Given the description of an element on the screen output the (x, y) to click on. 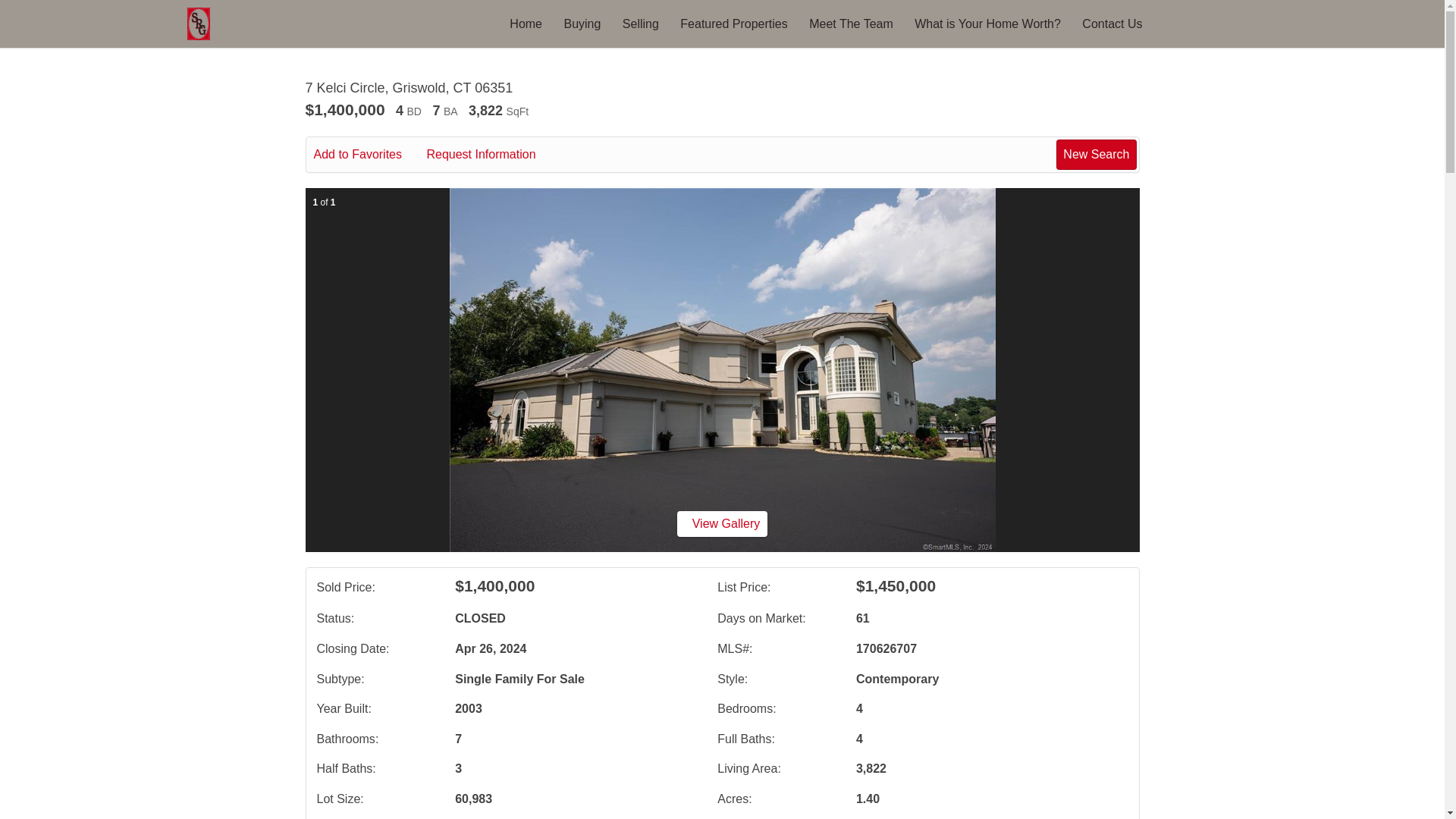
Featured Properties (733, 23)
Buying (581, 23)
New Search (1096, 154)
View Gallery (722, 524)
Contact Us (1111, 23)
Selling (641, 23)
Home (525, 23)
Add to Favorites (368, 154)
View Gallery (722, 522)
What is Your Home Worth? (987, 23)
